Given the description of an element on the screen output the (x, y) to click on. 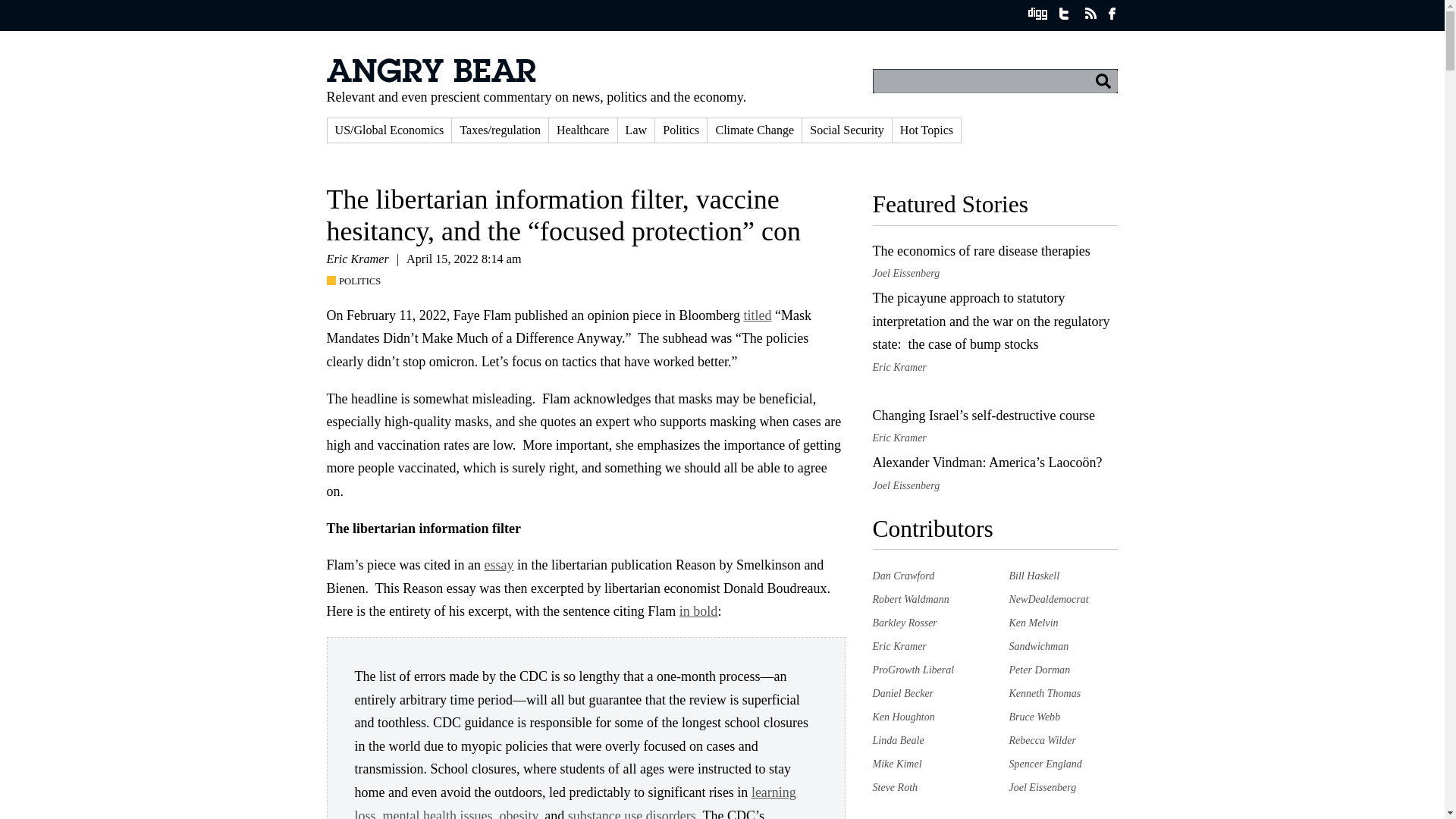
Hot Topics (926, 129)
Law (636, 129)
Politics (680, 129)
essay (498, 564)
titled (756, 314)
Social Security (846, 129)
obesity (518, 813)
learning loss (575, 801)
substance use disorders (631, 813)
Healthcare (582, 129)
Climate Change (754, 129)
in bold (698, 611)
mental health issues (437, 813)
POLITICS (357, 281)
